Given the description of an element on the screen output the (x, y) to click on. 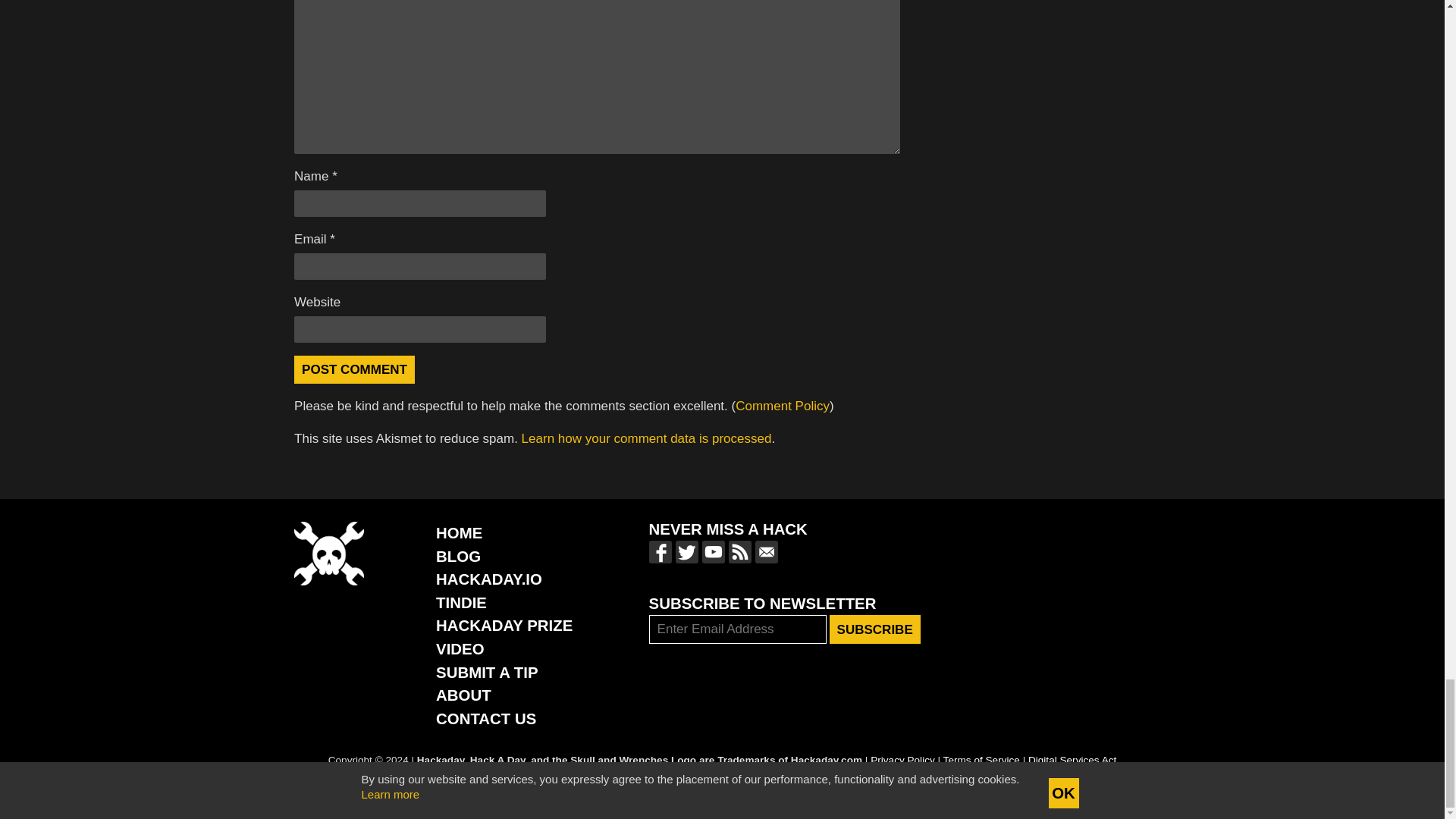
Build Something that Matters (503, 625)
Post Comment (354, 369)
Subscribe (874, 629)
